Given the description of an element on the screen output the (x, y) to click on. 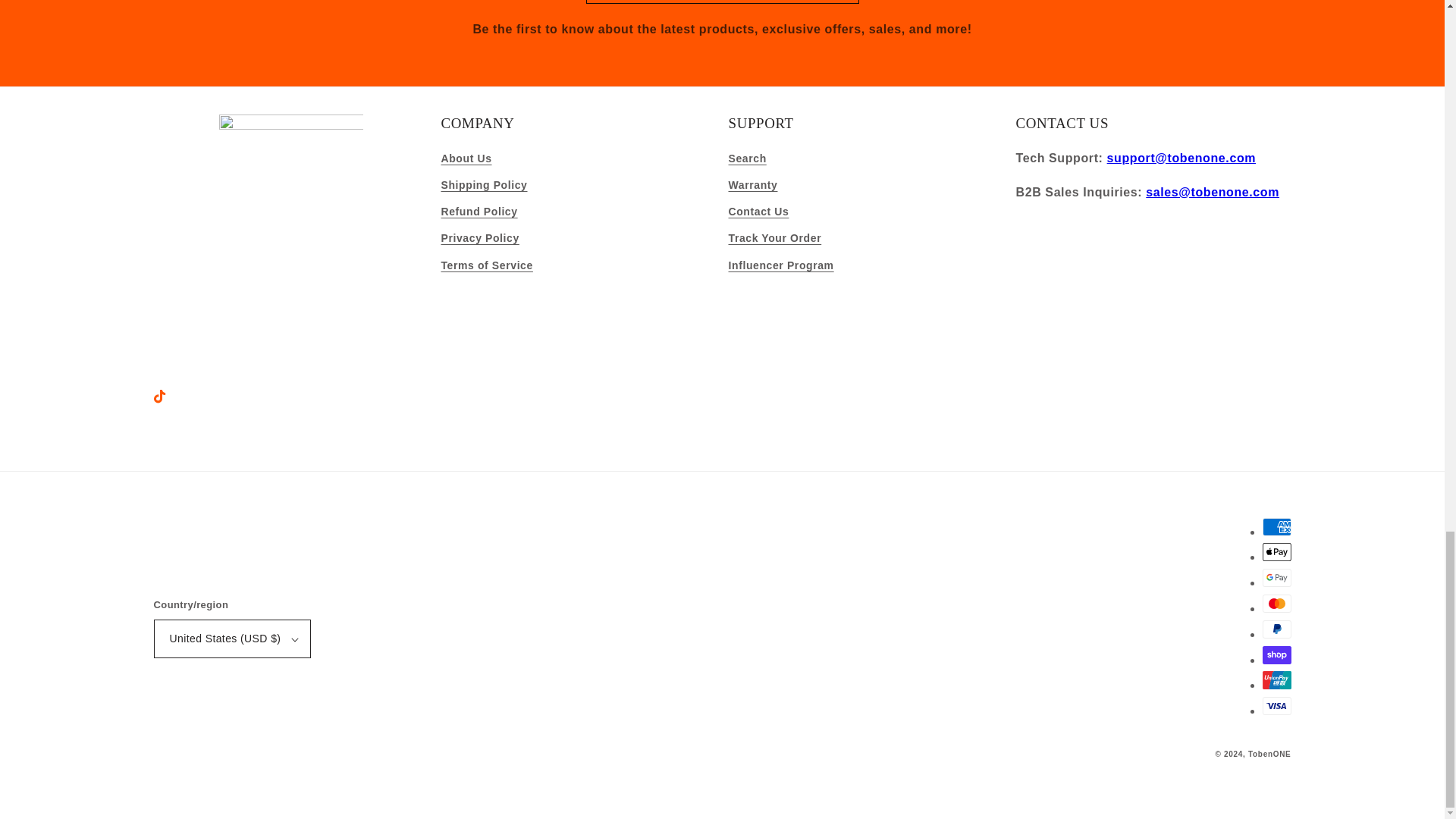
PayPal (1276, 628)
Visa (1276, 705)
Shop Pay (1276, 655)
Apple Pay (1276, 551)
Union Pay (1276, 679)
American Express (1276, 526)
Mastercard (1276, 603)
Google Pay (1276, 577)
